Given the description of an element on the screen output the (x, y) to click on. 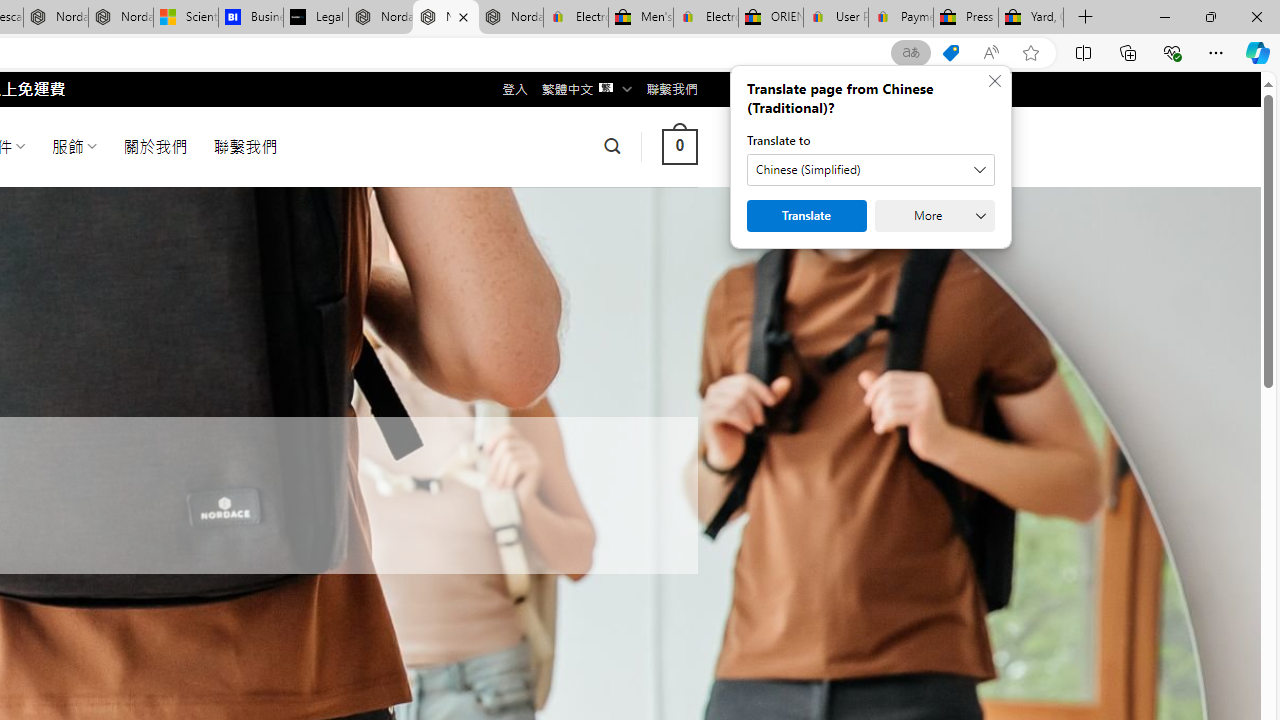
Translate (806, 215)
  0   (679, 146)
